Given the description of an element on the screen output the (x, y) to click on. 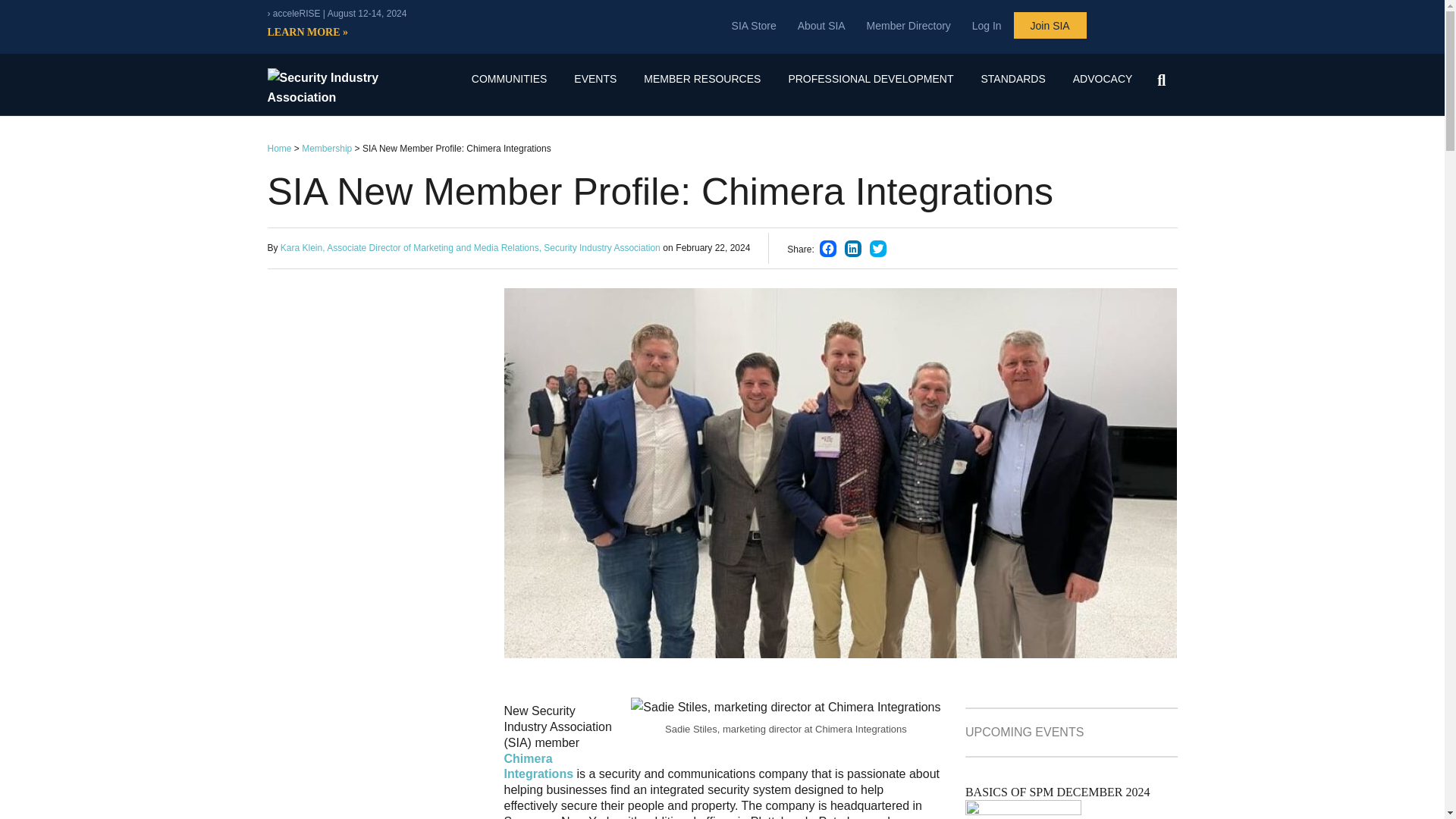
Click to share on Twitter (877, 248)
Click to share on LinkedIn (852, 248)
Click to share on Facebook (827, 248)
